Given the description of an element on the screen output the (x, y) to click on. 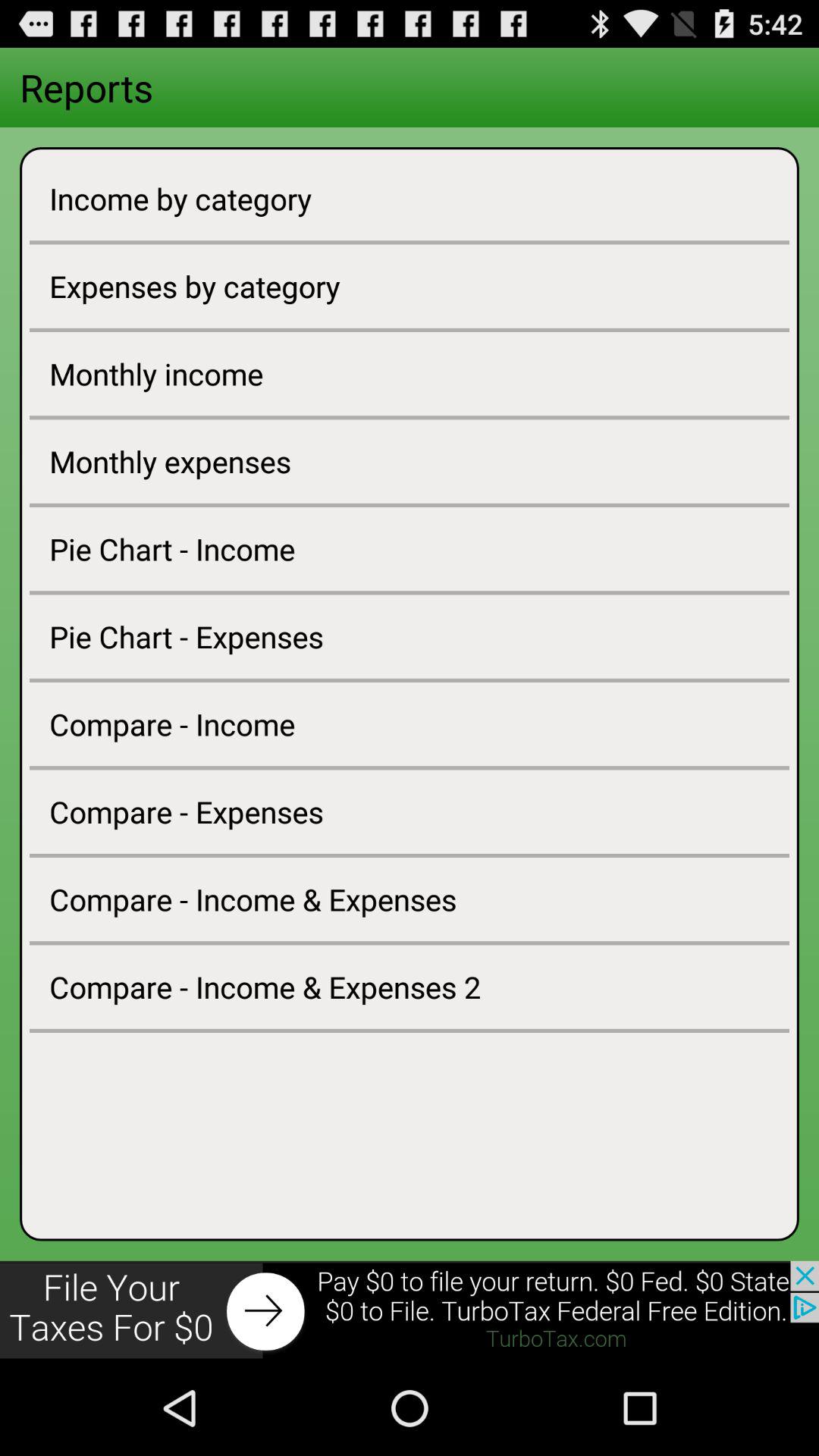
click on the advertisement (409, 1310)
